Given the description of an element on the screen output the (x, y) to click on. 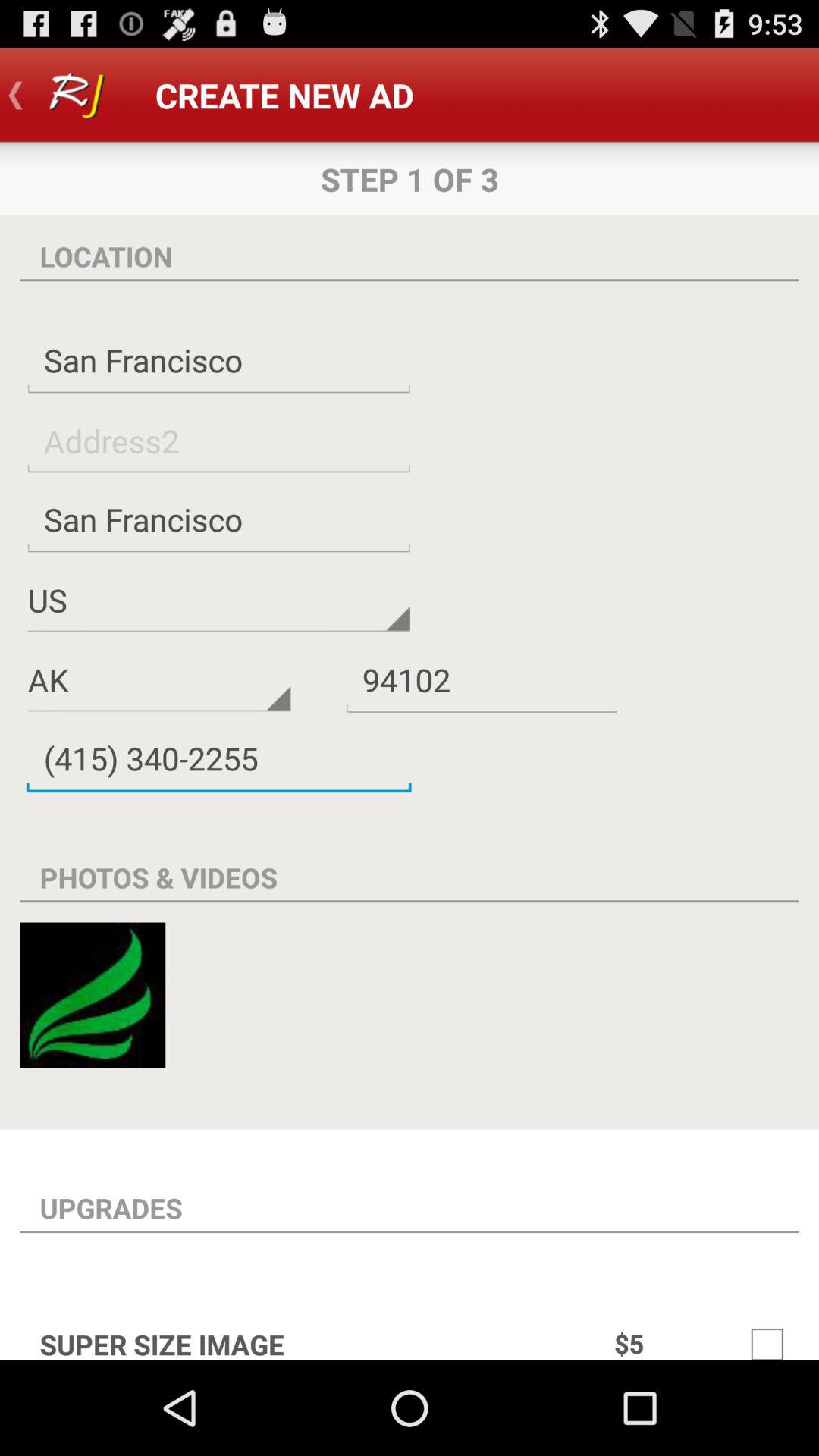
enter address2 (218, 440)
